Given the description of an element on the screen output the (x, y) to click on. 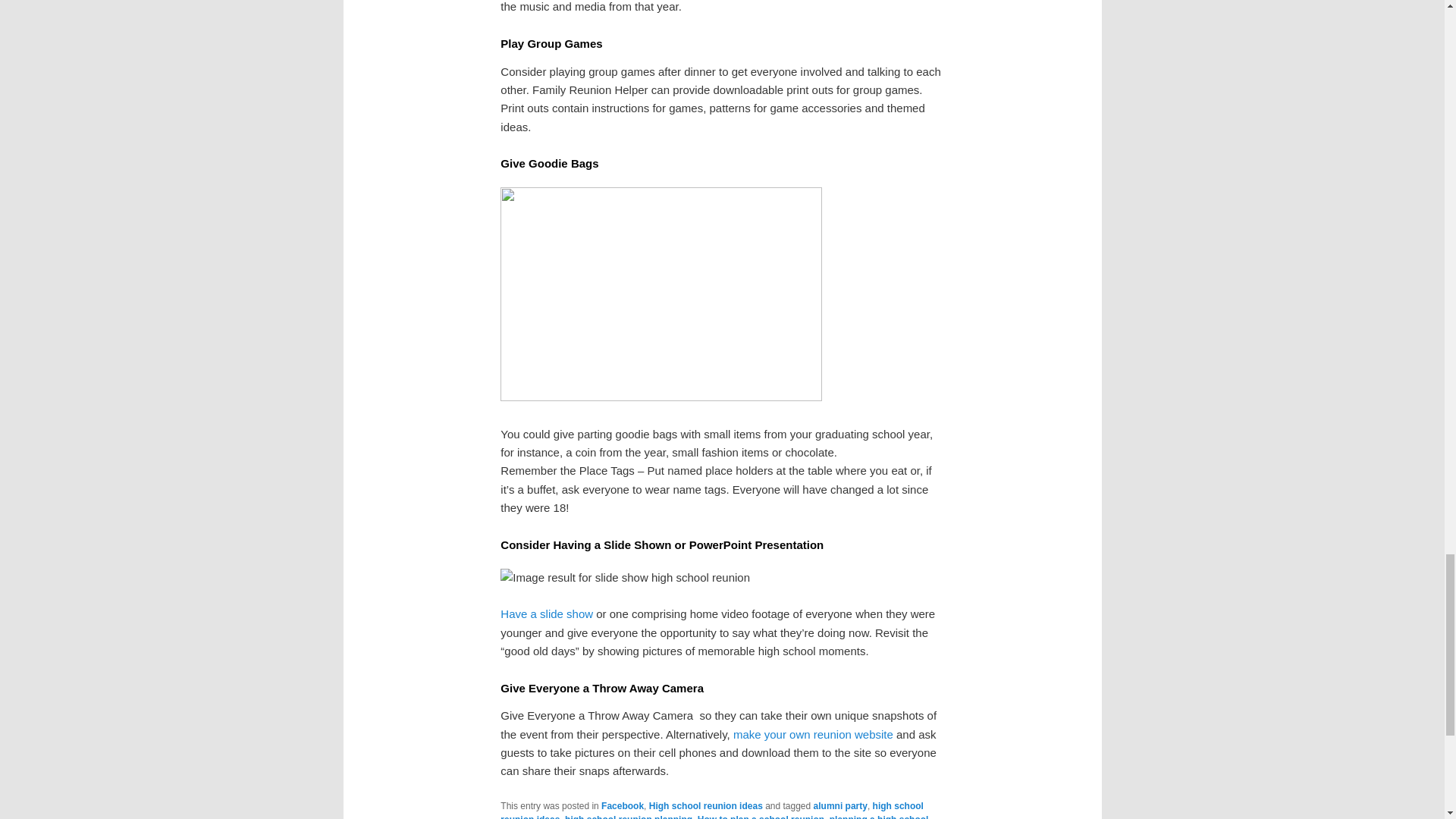
planning a high school reunion (714, 816)
make your own reunion website (813, 734)
Have a slide show (546, 613)
alumni party (840, 805)
High school reunion ideas (705, 805)
high school reunion ideas (711, 809)
Facebook (622, 805)
high school reunion planning (628, 816)
View source image (624, 577)
How to plan a school reunion (760, 816)
